Given the description of an element on the screen output the (x, y) to click on. 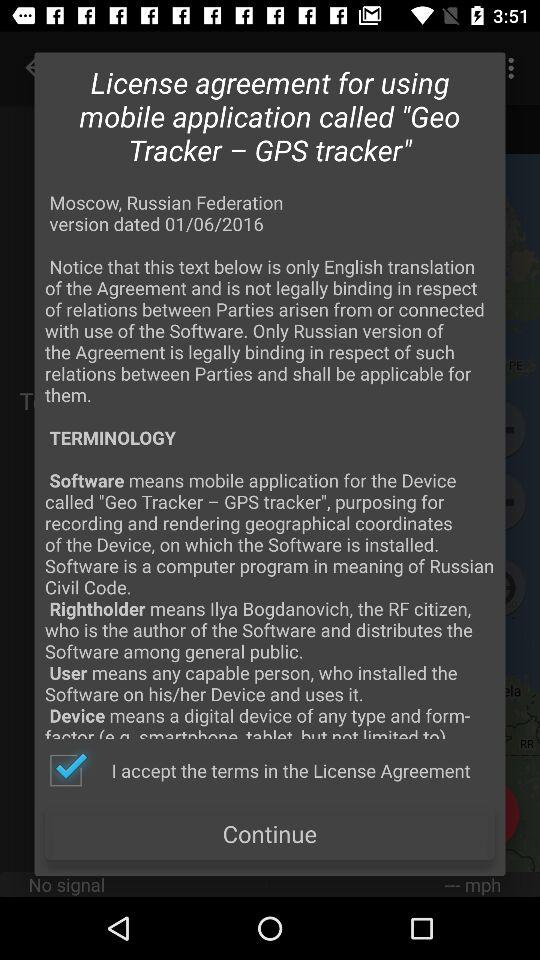
turn off the icon below the license agreement for app (270, 464)
